Given the description of an element on the screen output the (x, y) to click on. 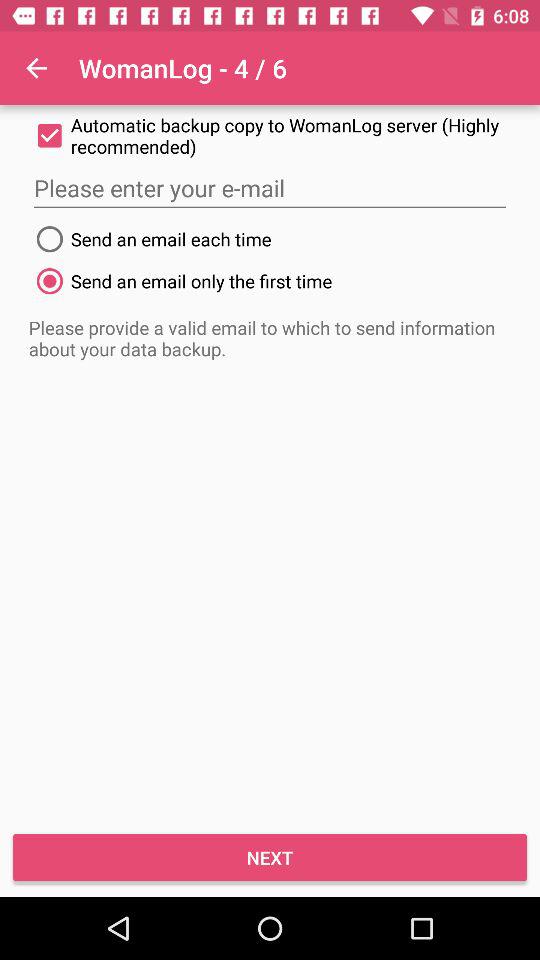
click the icon below the please provide a (269, 857)
